Given the description of an element on the screen output the (x, y) to click on. 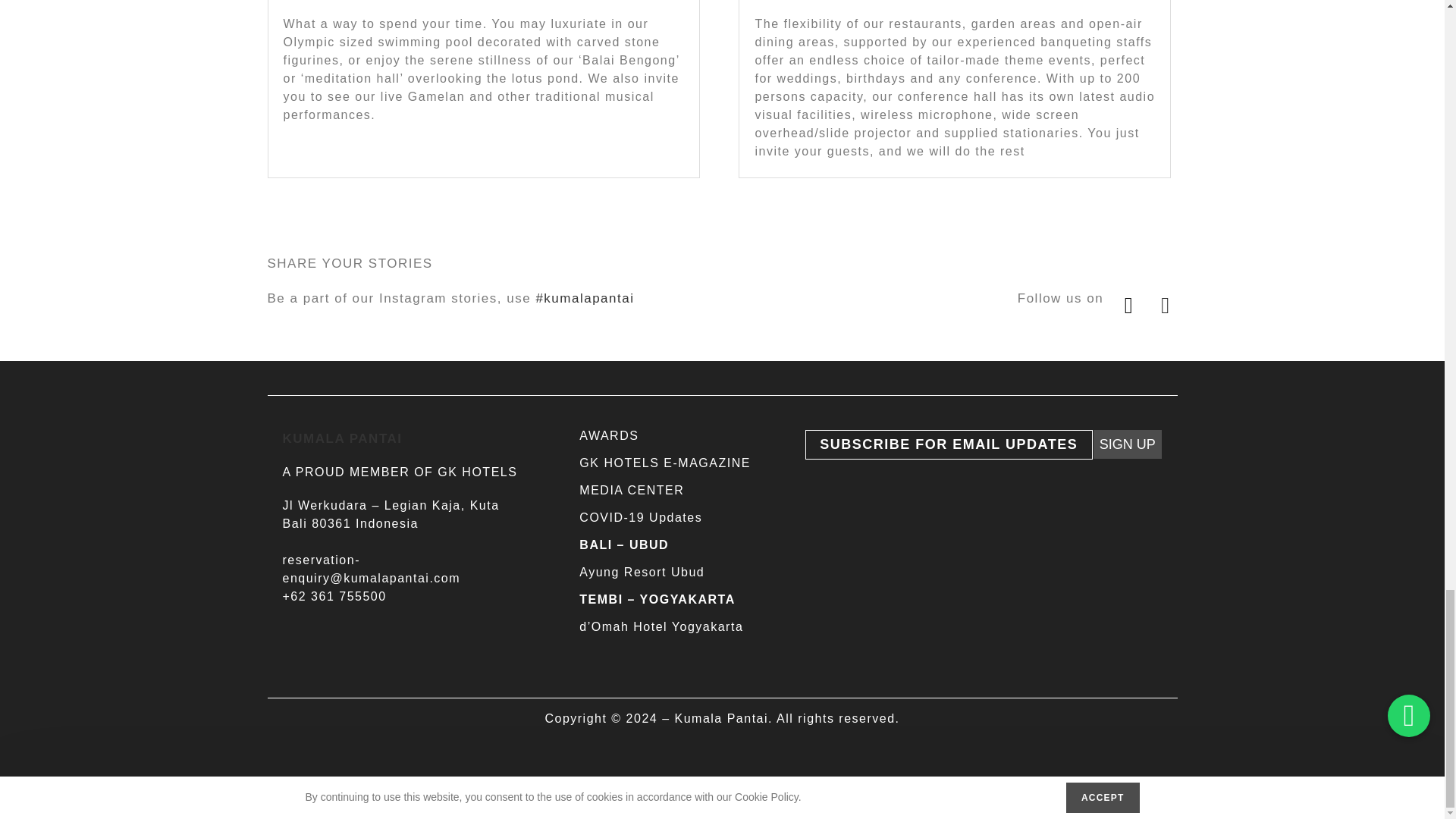
SIGN UP (1127, 443)
Ayung Resort Ubud (641, 571)
GK HOTELS E-MAGAZINE (665, 462)
COVID-19 Updates (640, 517)
AWARDS (609, 435)
